Given the description of an element on the screen output the (x, y) to click on. 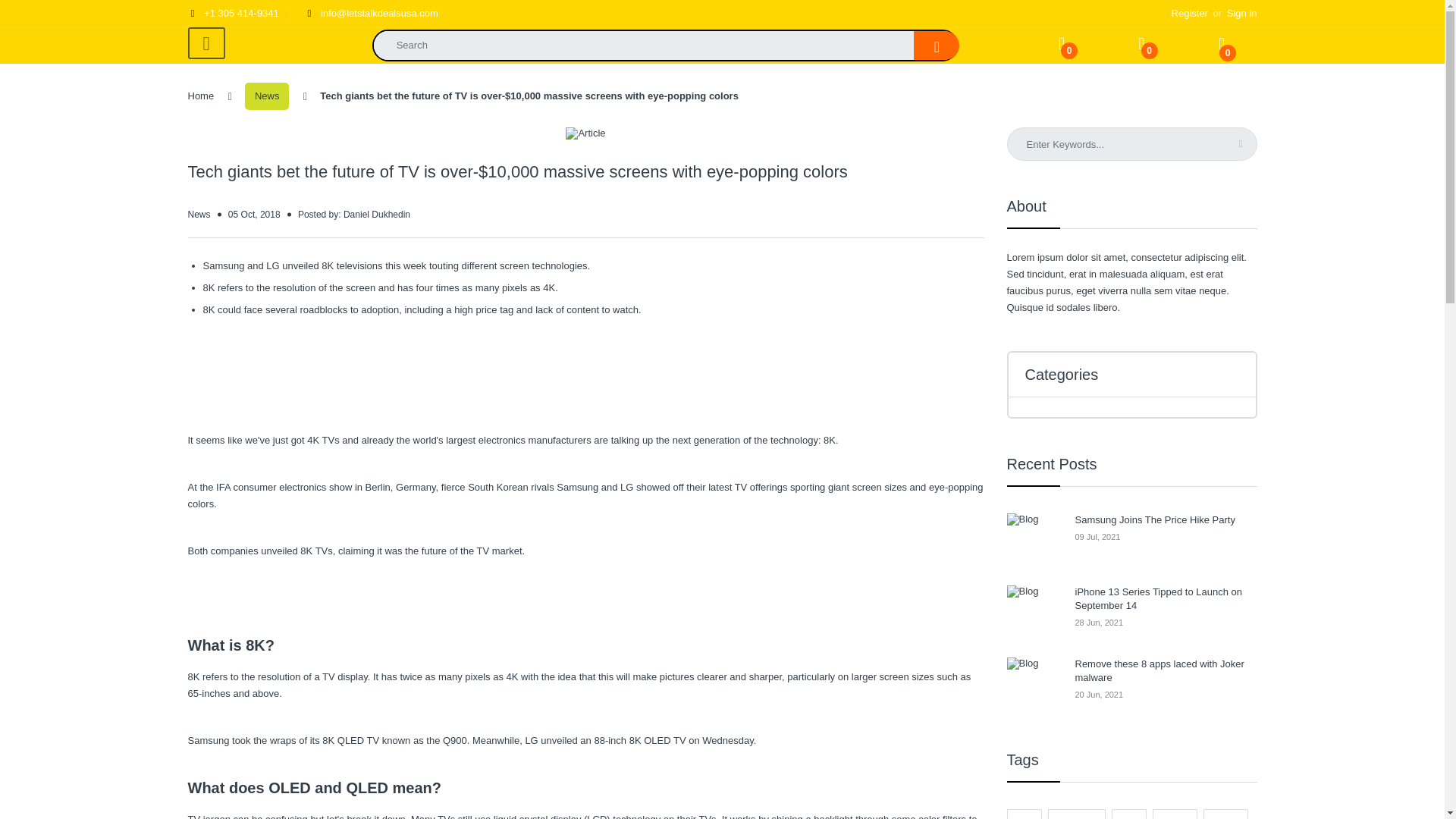
Register (1182, 12)
Show articles tagged Alert (1225, 814)
Show articles tagged 8k (1129, 814)
Show articles tagged 8k tv (1174, 814)
